Given the description of an element on the screen output the (x, y) to click on. 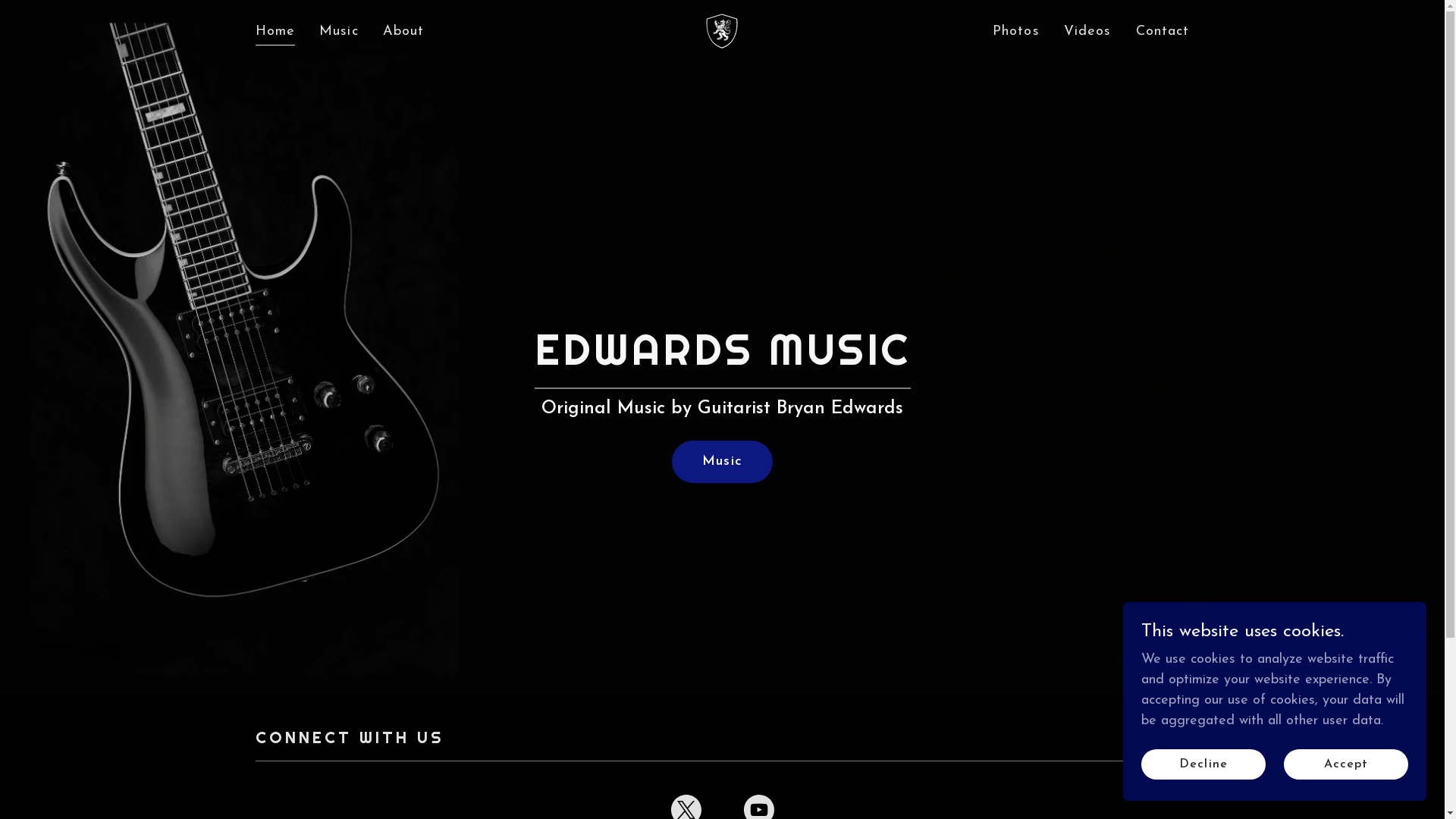
Music Element type: text (338, 31)
Contact Element type: text (1162, 31)
Videos Element type: text (1087, 31)
Home Element type: text (274, 33)
Accept Element type: text (1345, 764)
Bryan Edwards Element type: hover (721, 29)
Decline Element type: text (1203, 764)
Photos Element type: text (1016, 31)
About Element type: text (403, 31)
Music Element type: text (721, 461)
